Given the description of an element on the screen output the (x, y) to click on. 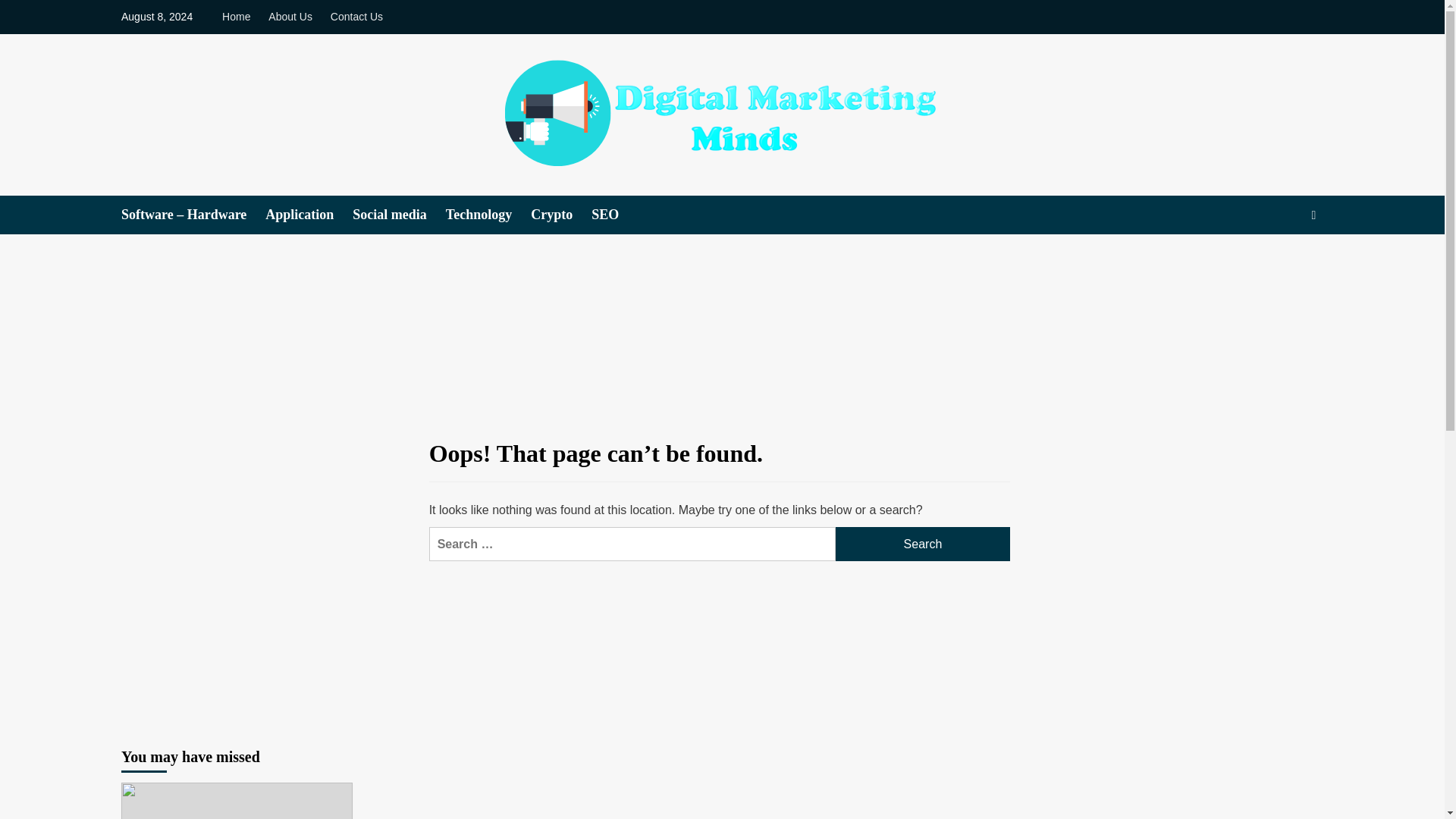
Crypto (561, 214)
Search (1278, 261)
Social media (398, 214)
Search (922, 544)
SEO (614, 214)
Home (239, 17)
Search (922, 544)
Search (922, 544)
Contact Us (356, 17)
Technology (488, 214)
